Given the description of an element on the screen output the (x, y) to click on. 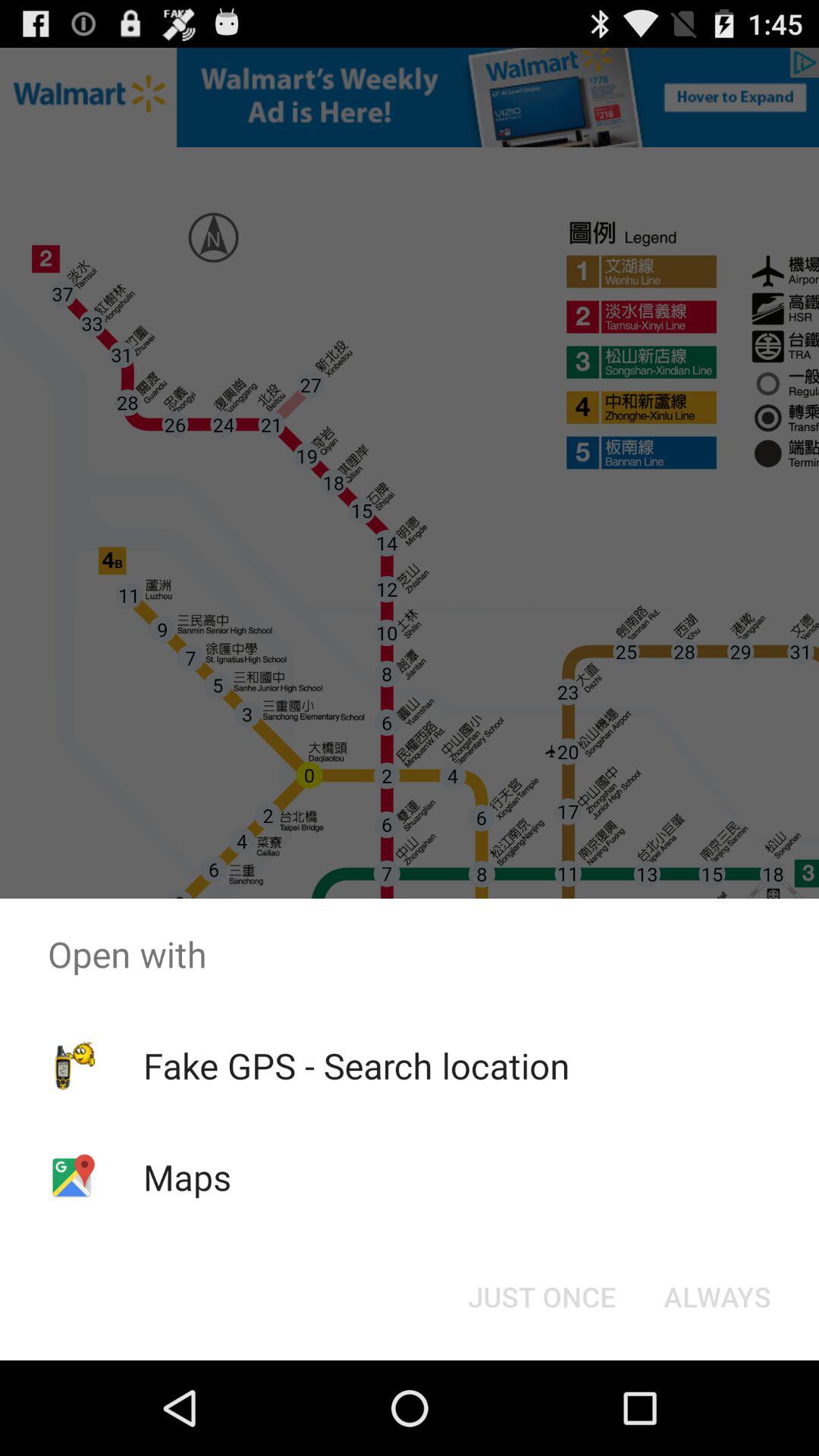
turn on the icon above maps item (356, 1065)
